Given the description of an element on the screen output the (x, y) to click on. 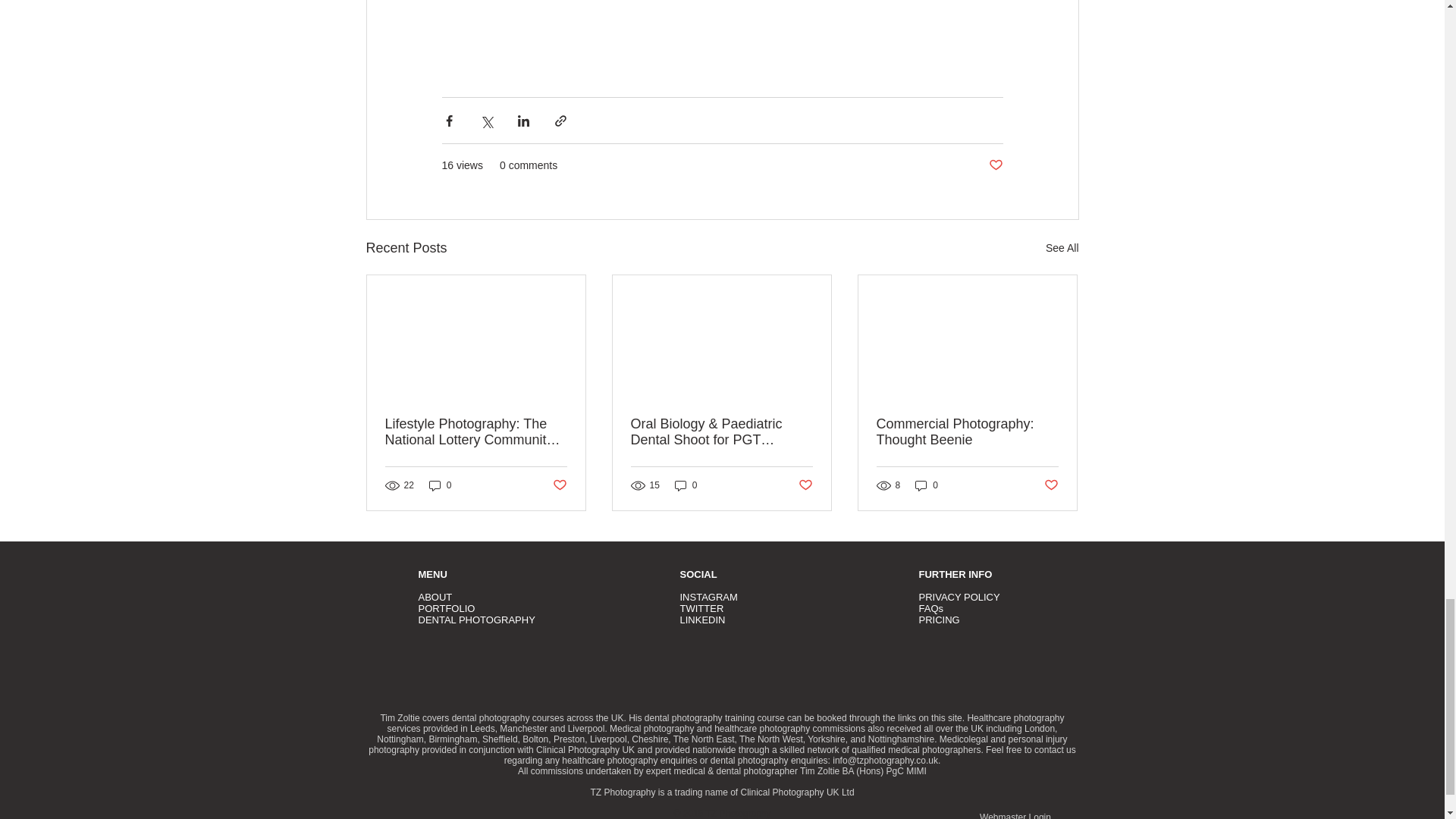
Post not marked as liked (804, 485)
DENTAL PHOTOGRAPHY (477, 619)
0 (685, 485)
TWITTER (701, 608)
INSTAGRAM (707, 596)
LINKEDIN (702, 619)
Commercial Photography: Thought Beenie (967, 431)
PRICING (938, 619)
See All (1061, 248)
PORTFOLIO (447, 608)
